Given the description of an element on the screen output the (x, y) to click on. 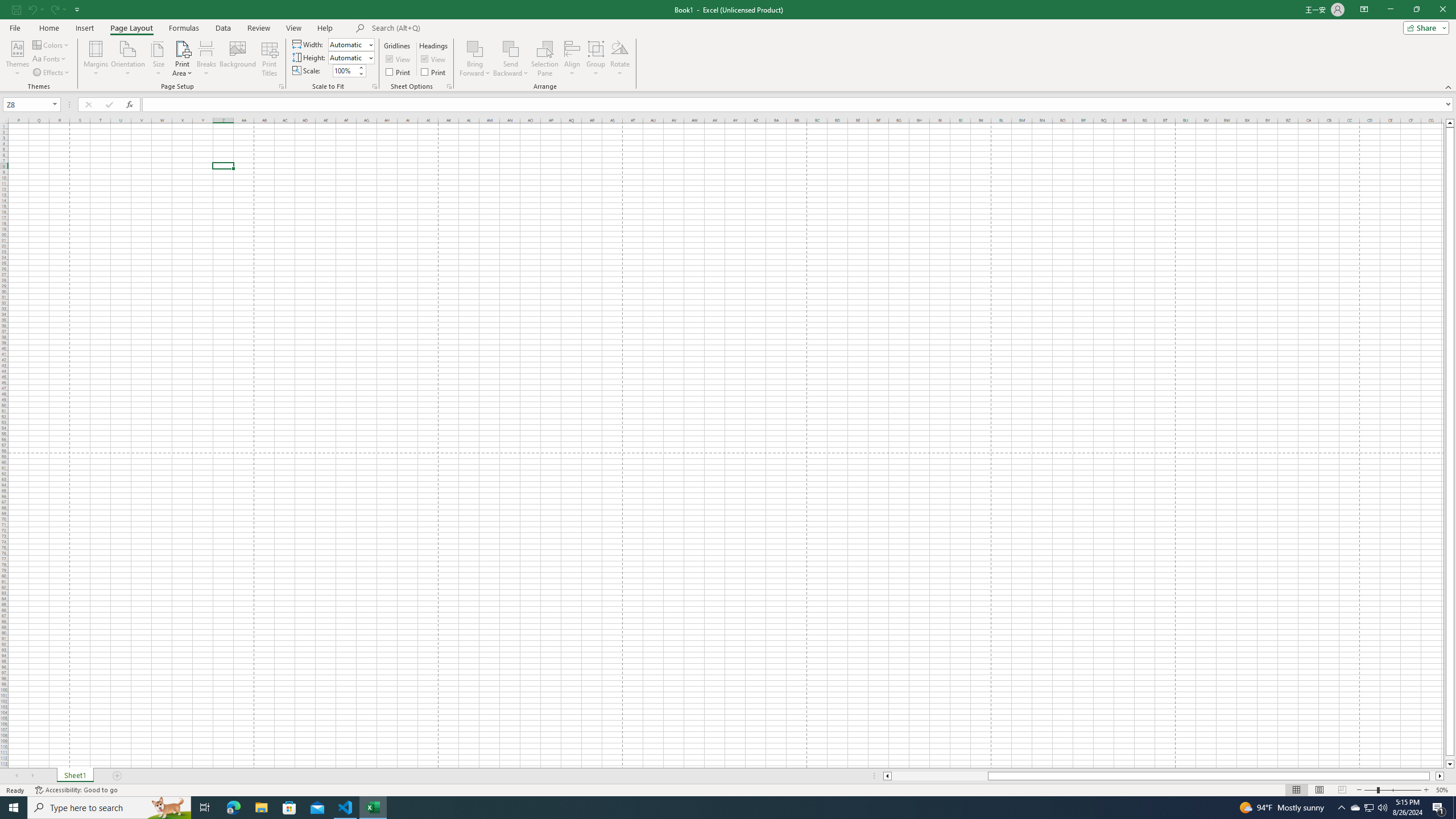
Page Setup (374, 85)
Width (350, 44)
Margins (95, 58)
Bring Forward (475, 58)
Breaks (206, 58)
